Given the description of an element on the screen output the (x, y) to click on. 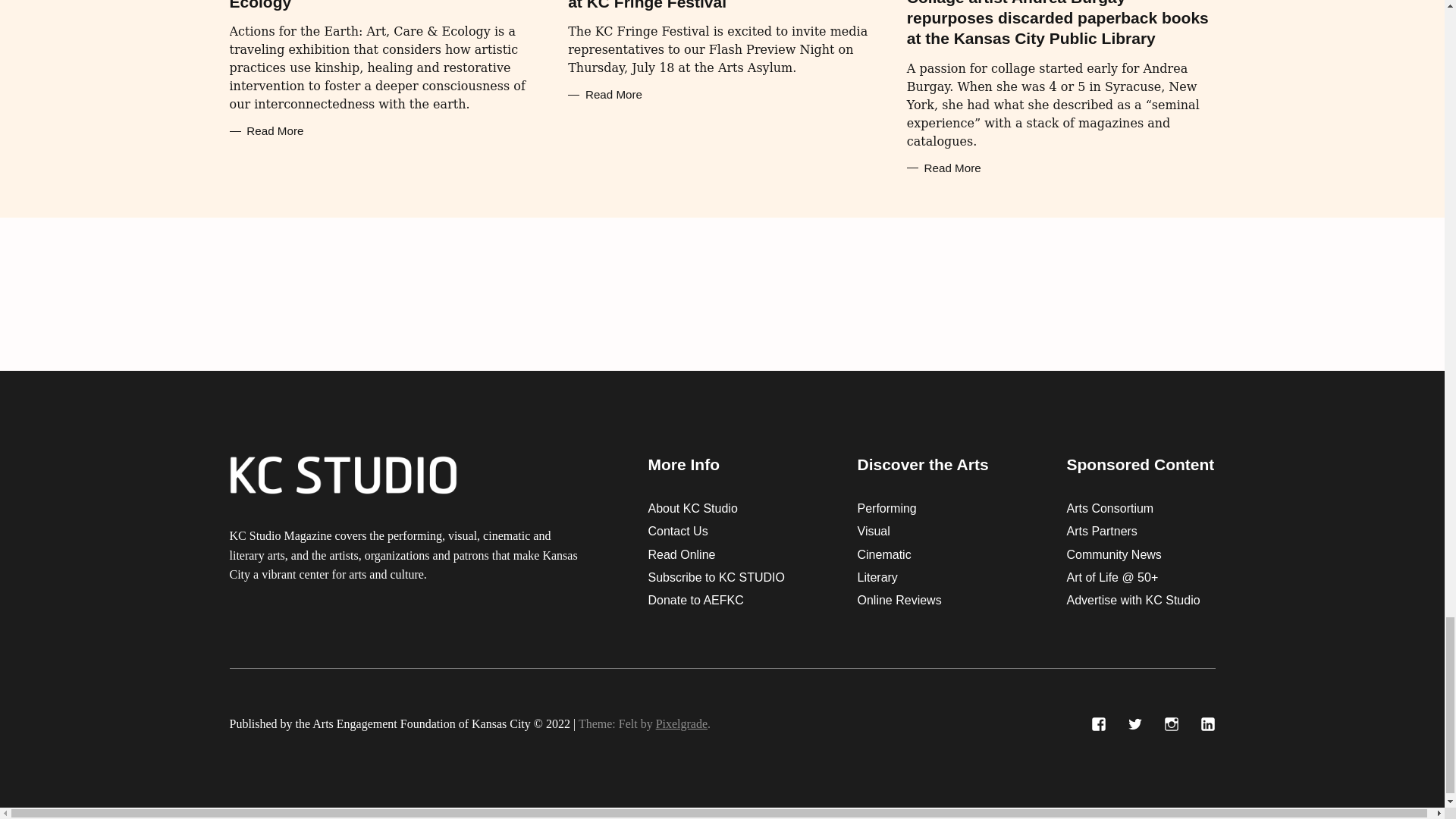
The Pixelgrade Website (681, 723)
3rd party ad content (721, 294)
